Given the description of an element on the screen output the (x, y) to click on. 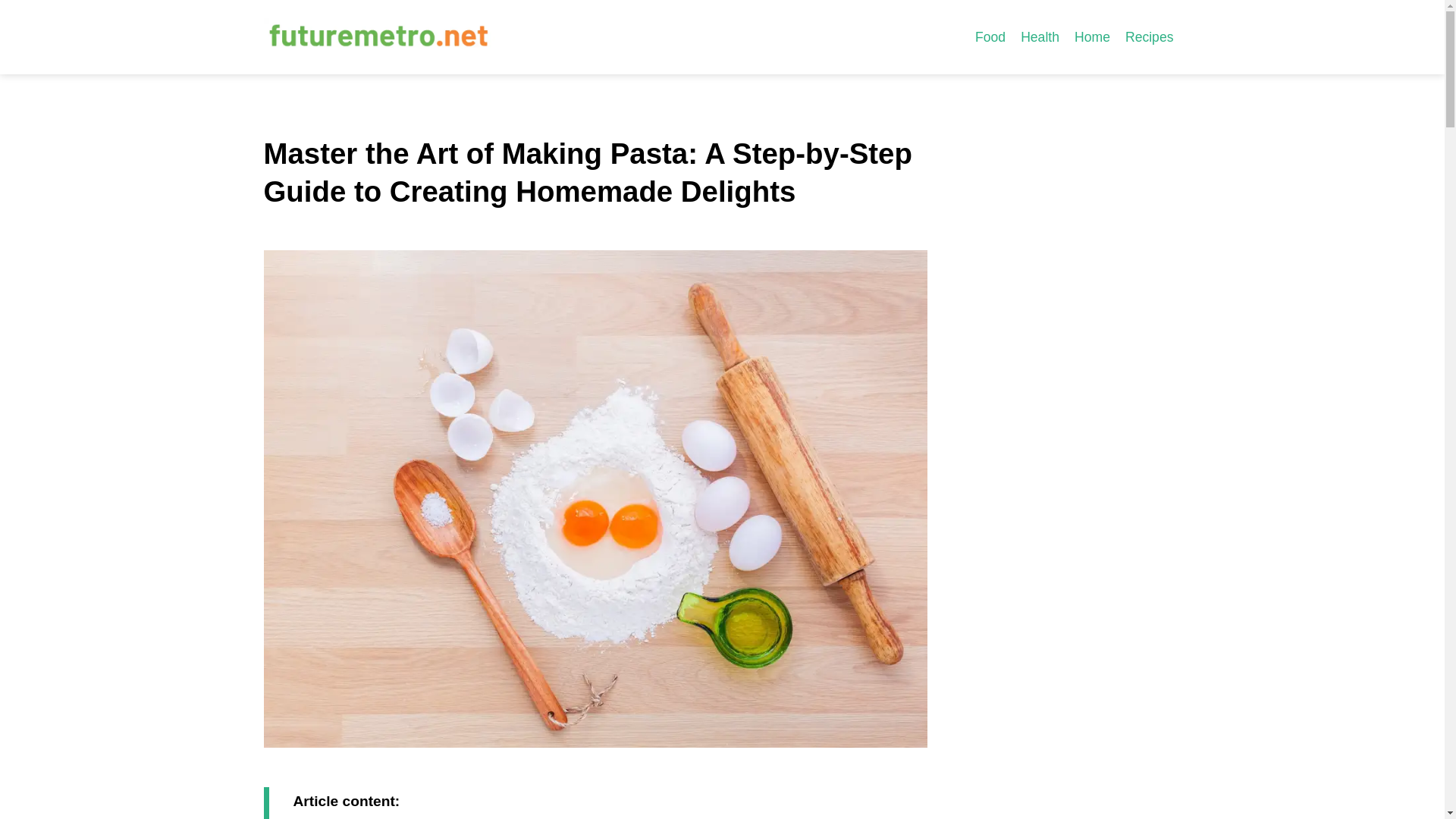
Recipes (1149, 36)
Food (990, 36)
Health (1040, 36)
Home (1092, 36)
